Given the description of an element on the screen output the (x, y) to click on. 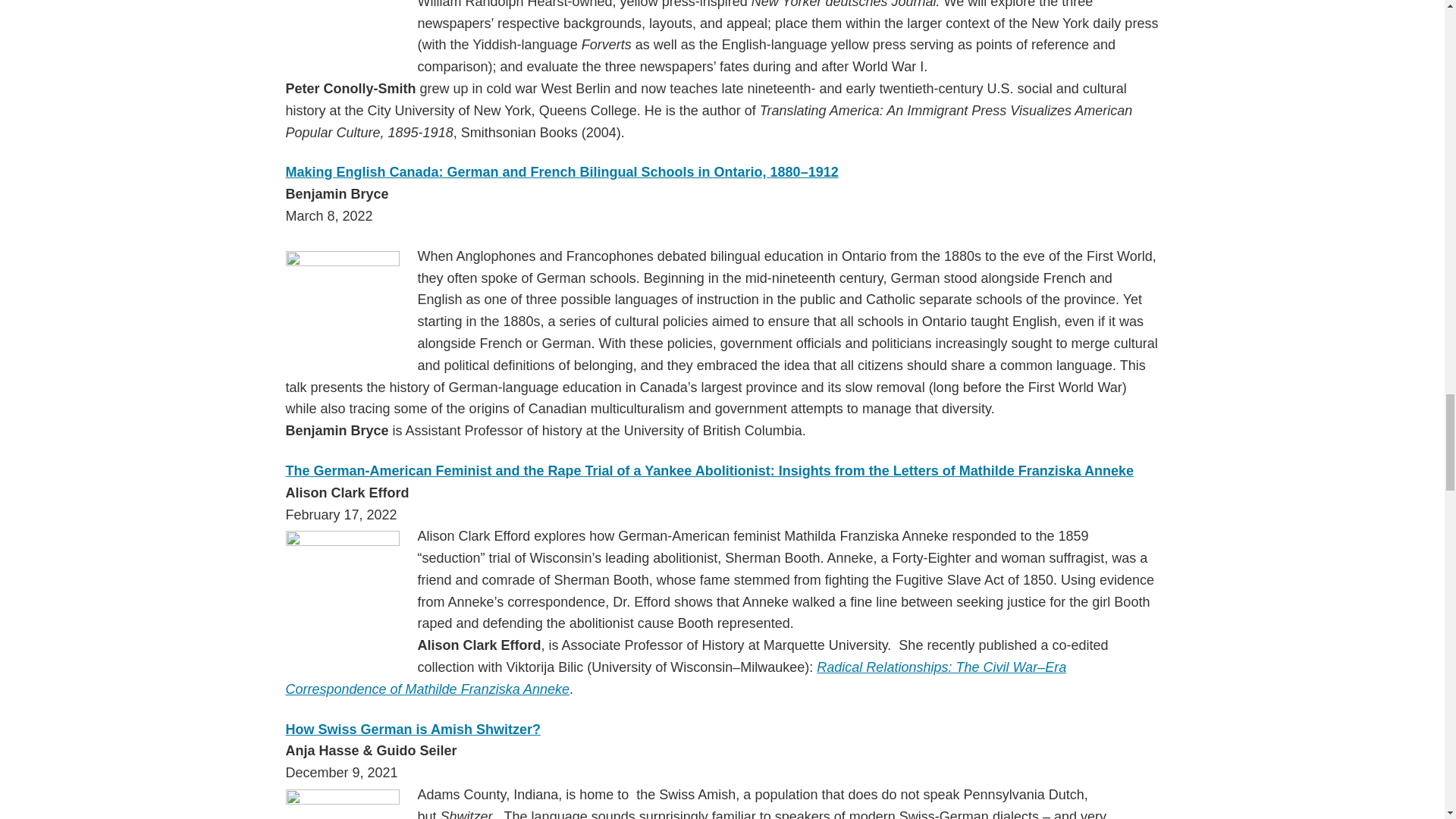
How Swiss German is Amish Shwitzer? (412, 729)
